Given the description of an element on the screen output the (x, y) to click on. 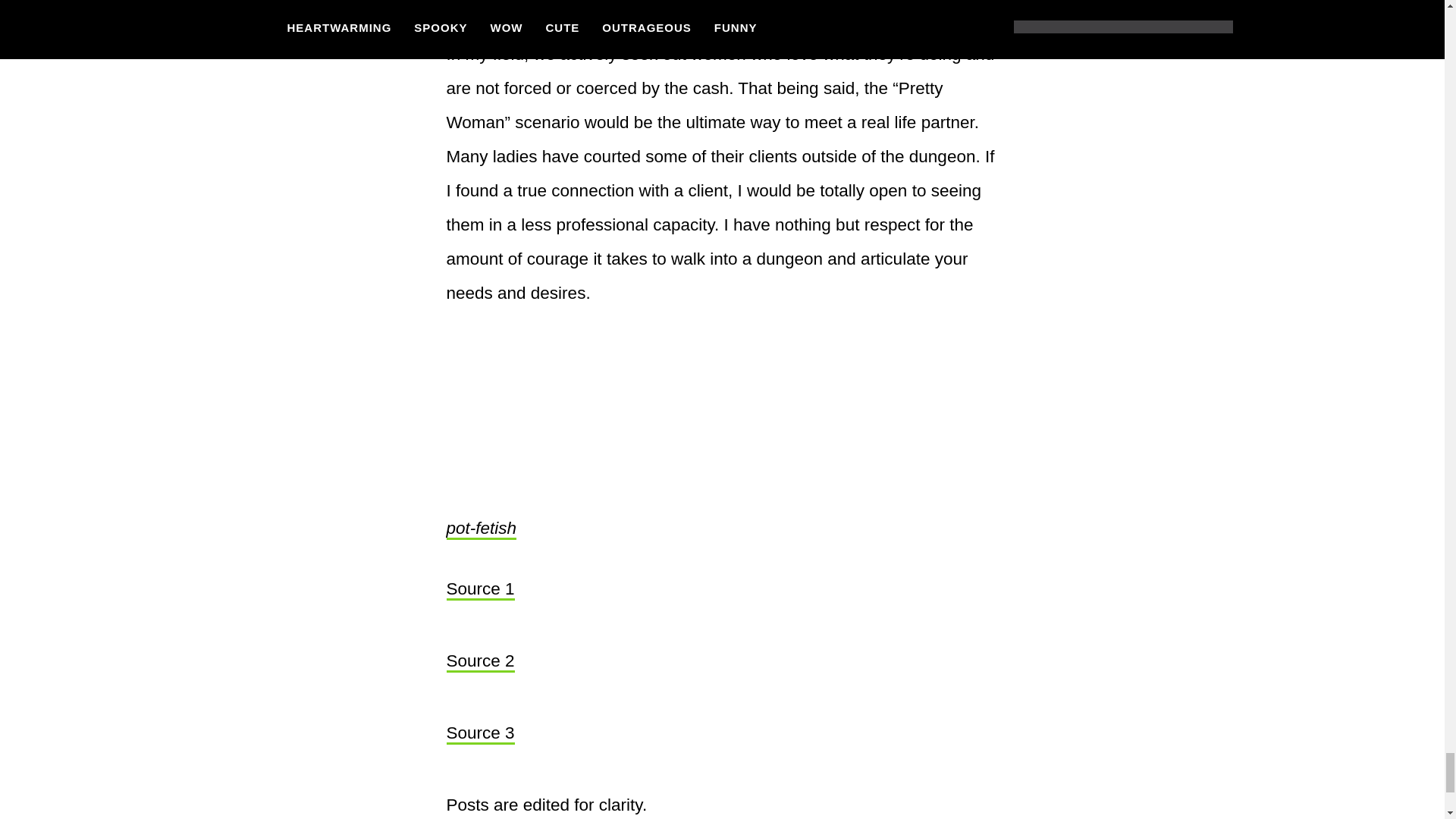
Source 3 (479, 733)
Source 2 (479, 661)
pot-fetish (480, 528)
Source 1 (479, 589)
